Given the description of an element on the screen output the (x, y) to click on. 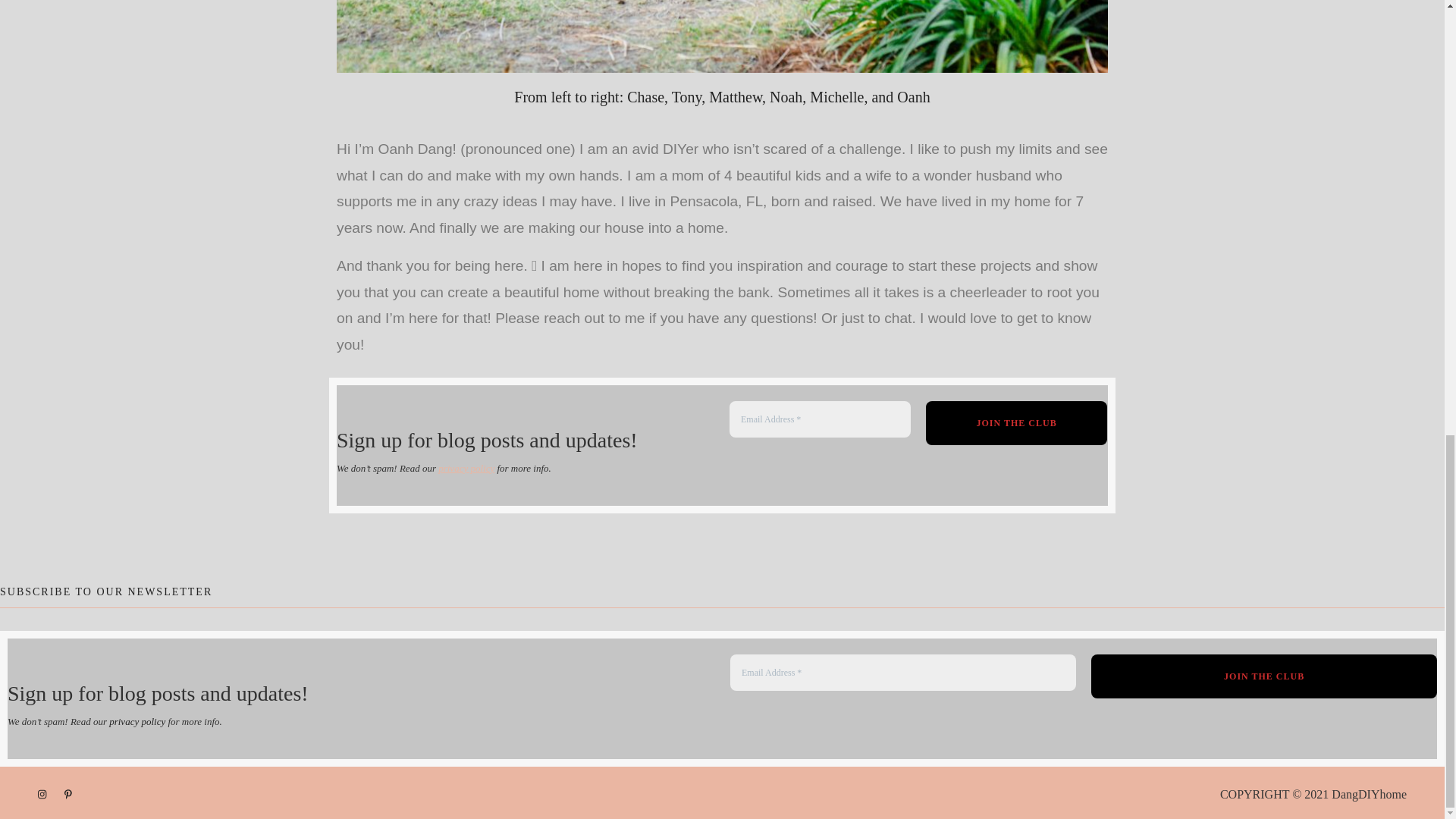
JOIN THE CLUB (1263, 676)
Email Address (902, 672)
JOIN THE CLUB (1017, 423)
privacy policy (466, 468)
JOIN THE CLUB (1017, 423)
Email Address (820, 419)
JOIN THE CLUB (1263, 676)
privacy policy (137, 720)
